Given the description of an element on the screen output the (x, y) to click on. 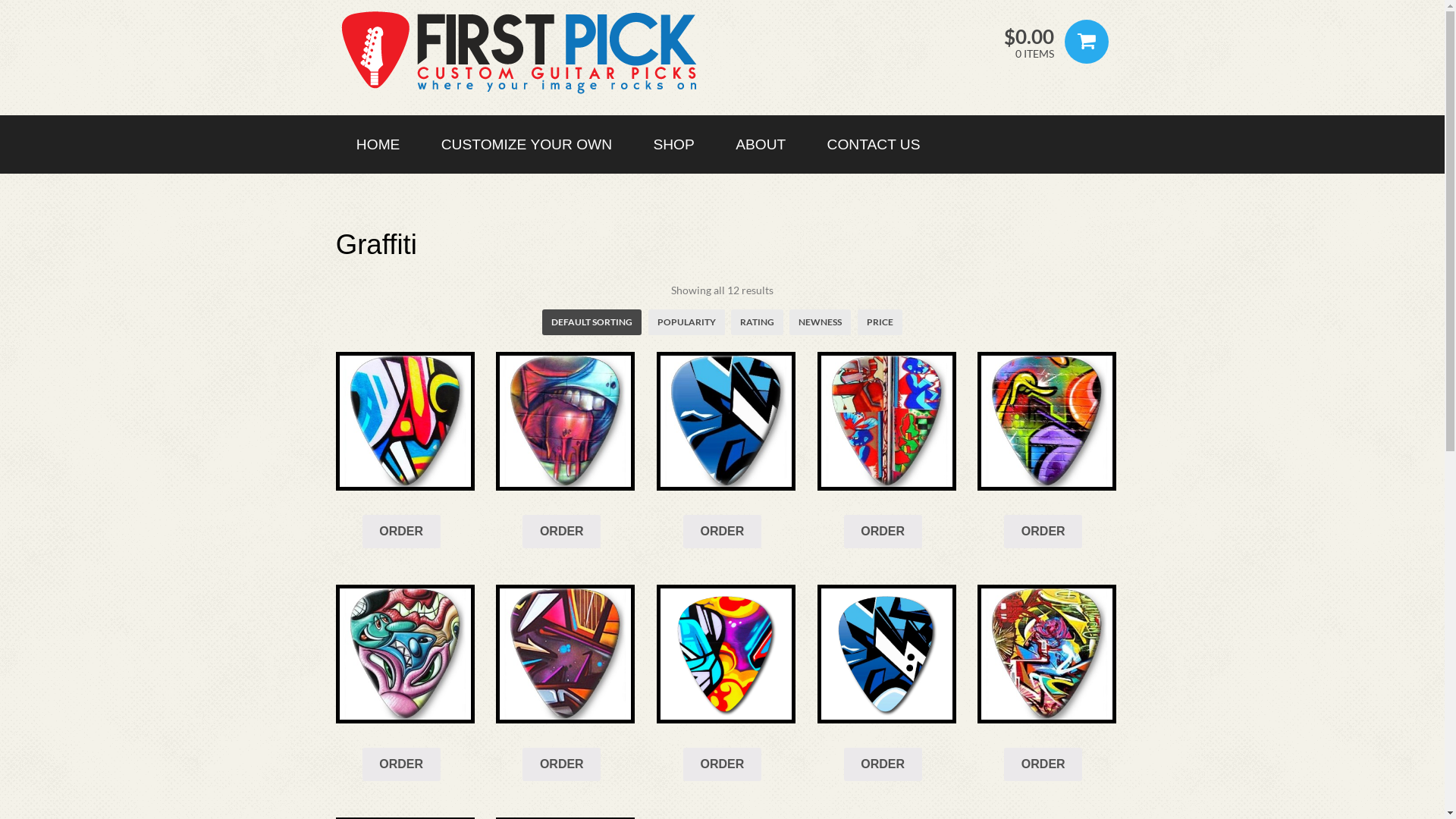
ORDER Element type: text (1043, 531)
29 Element type: hover (564, 653)
CONTACT US Element type: text (873, 144)
PRICE Element type: text (879, 322)
33 Element type: hover (564, 420)
ORDER Element type: text (883, 764)
ABOUT Element type: text (760, 144)
ORDER Element type: text (883, 531)
ORDER Element type: text (561, 764)
31 Element type: hover (404, 420)
HOME Element type: text (377, 144)
26 Element type: hover (1046, 420)
23 Element type: hover (886, 420)
DEFAULT SORTING Element type: text (591, 322)
Graffiti-2 Element type: hover (886, 653)
32 Element type: hover (1046, 653)
$0.00
0 ITEMS Element type: text (1027, 41)
ORDER Element type: text (722, 764)
ORDER Element type: text (401, 764)
NEWNESS Element type: text (819, 322)
SHOP Element type: text (673, 144)
ORDER Element type: text (401, 531)
ORDER Element type: text (1043, 764)
ORDER Element type: text (561, 531)
ORDER Element type: text (722, 531)
RATING Element type: text (757, 322)
28 Element type: hover (404, 653)
POPULARITY Element type: text (686, 322)
22 Element type: hover (725, 420)
Graffiti-1 Element type: hover (725, 653)
CUSTOMIZE YOUR OWN Element type: text (526, 144)
